Given the description of an element on the screen output the (x, y) to click on. 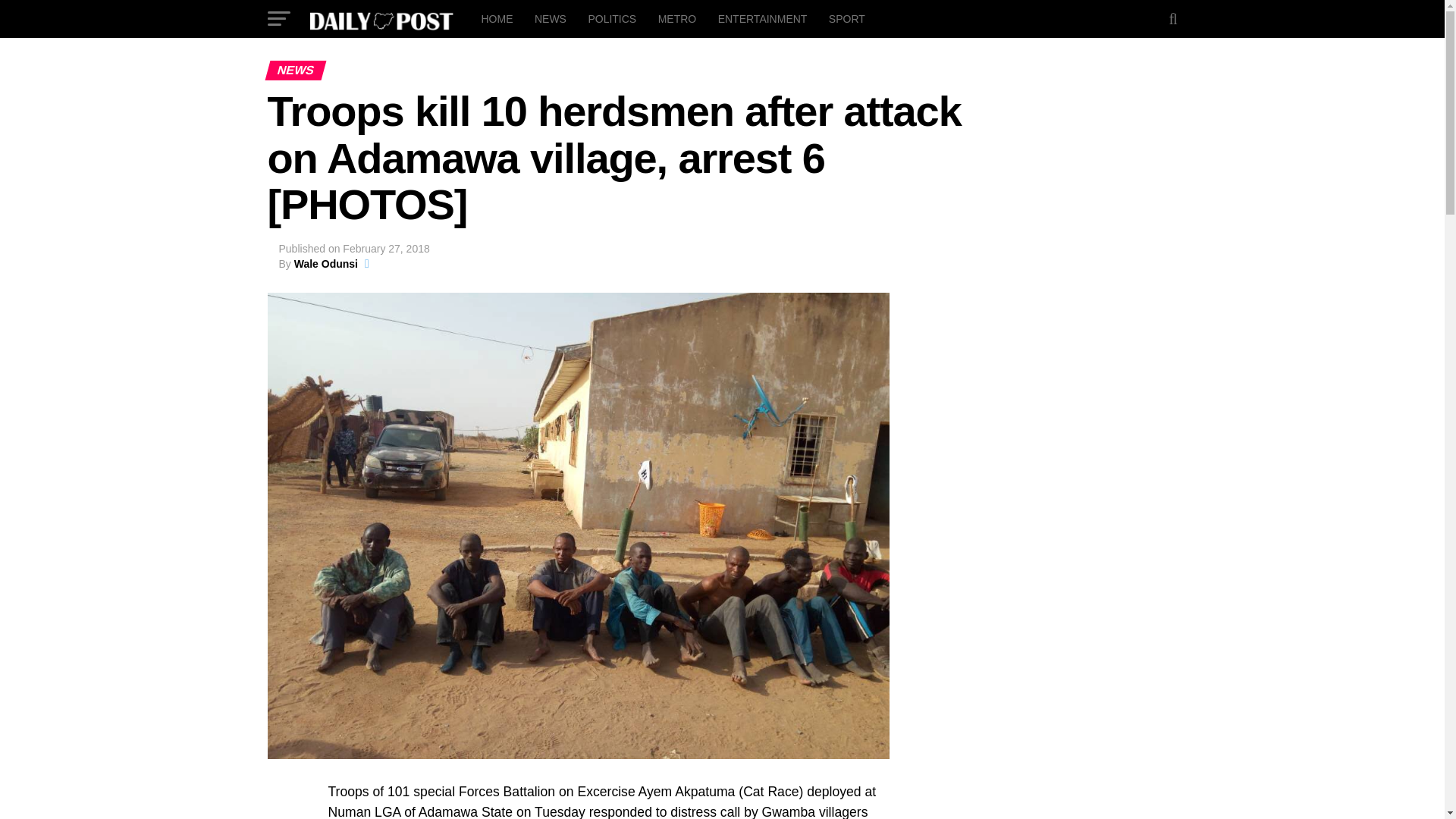
Posts by Wale Odunsi (326, 263)
METRO (677, 18)
SPORT (847, 18)
POLITICS (611, 18)
ENTERTAINMENT (762, 18)
Wale Odunsi (326, 263)
HOME (496, 18)
NEWS (550, 18)
